Given the description of an element on the screen output the (x, y) to click on. 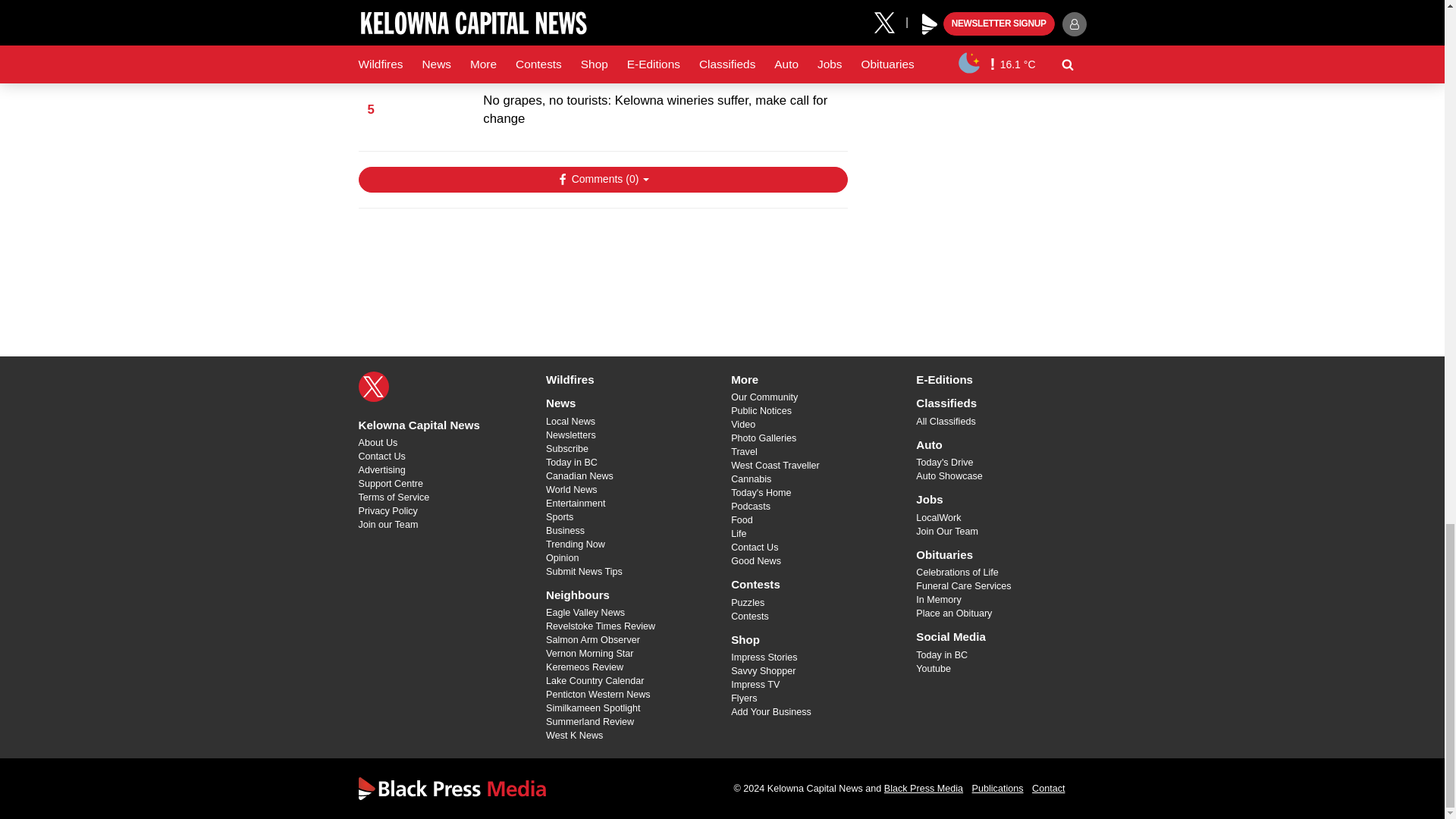
Show Comments (602, 179)
X (373, 386)
